Given the description of an element on the screen output the (x, y) to click on. 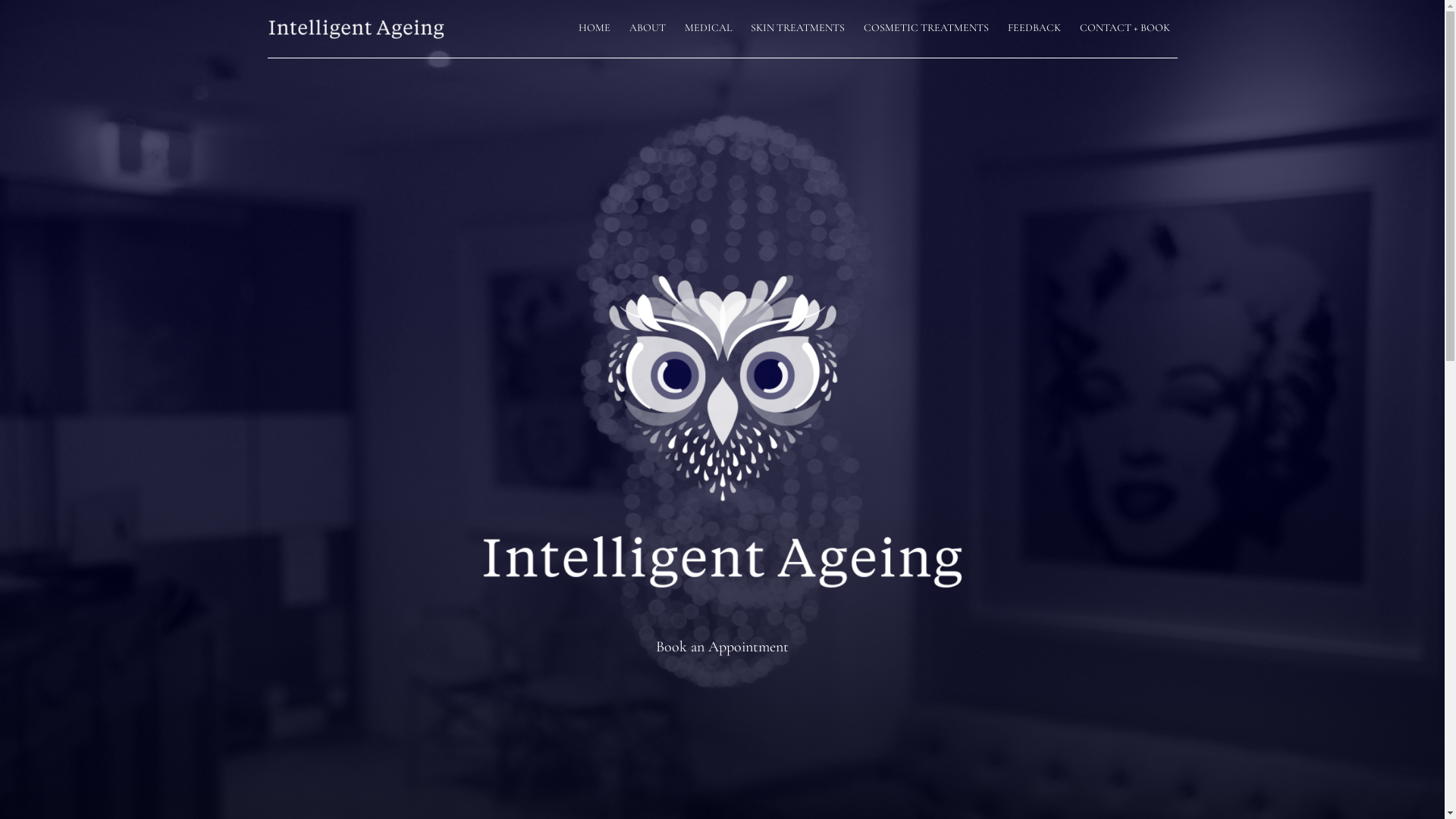
Book an Appointment Element type: text (721, 646)
Skip to main content Element type: text (0, 0)
INTELLIGENT AGEING Element type: text (365, 28)
FEEDBACK Element type: text (1033, 28)
MEDICAL Element type: text (707, 28)
ABOUT Element type: text (647, 28)
SKIN TREATMENTS Element type: text (797, 28)
CONTACT + BOOK Element type: text (1124, 28)
COSMETIC TREATMENTS Element type: text (925, 28)
HOME Element type: text (593, 28)
